Given the description of an element on the screen output the (x, y) to click on. 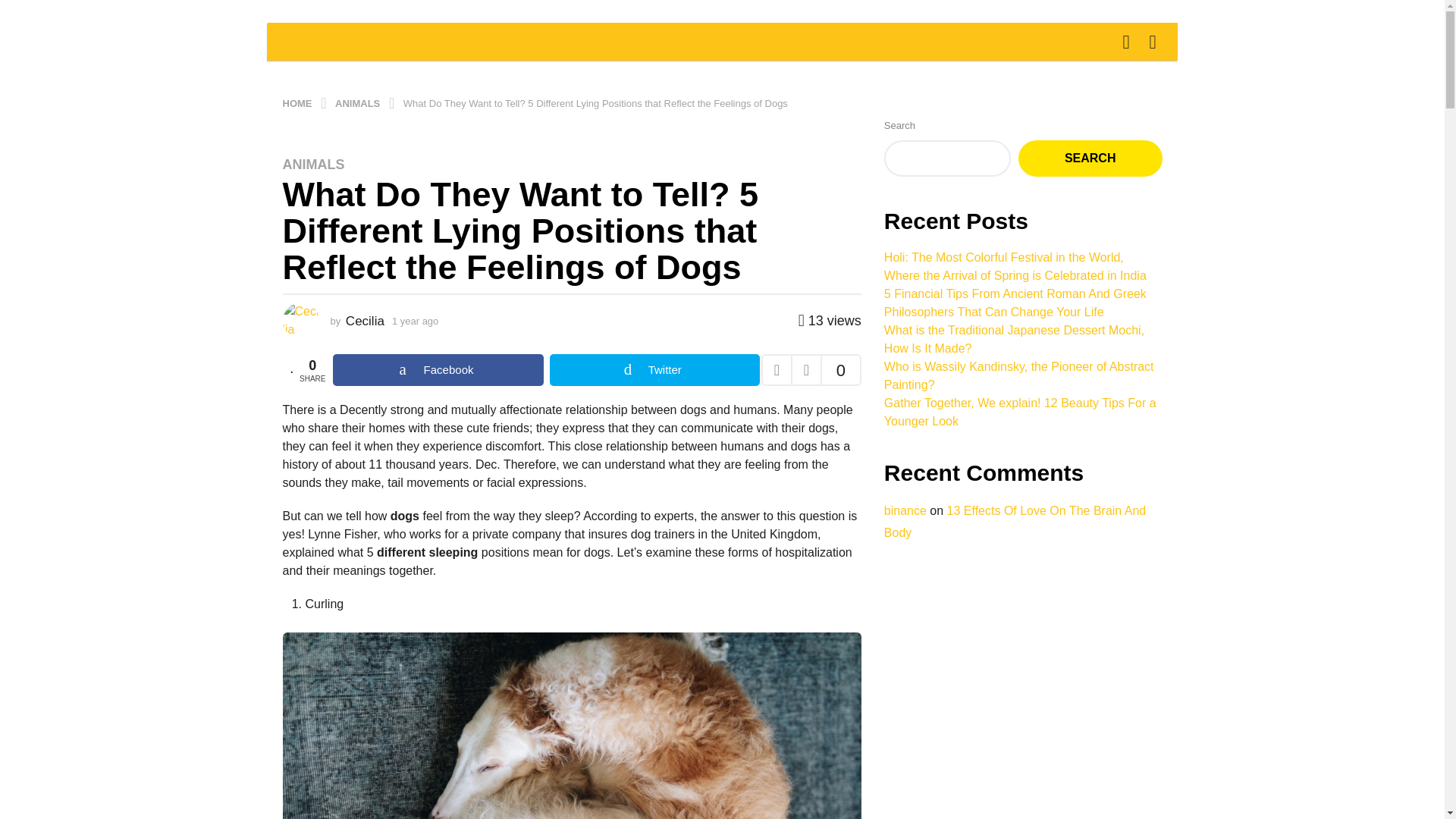
Facebook (438, 369)
Twitter (655, 369)
ANIMALS (358, 102)
Share on Facebook (438, 369)
ANIMALS (312, 164)
HOME (298, 102)
Cecilia (365, 320)
Share on Twitter (655, 369)
